Given the description of an element on the screen output the (x, y) to click on. 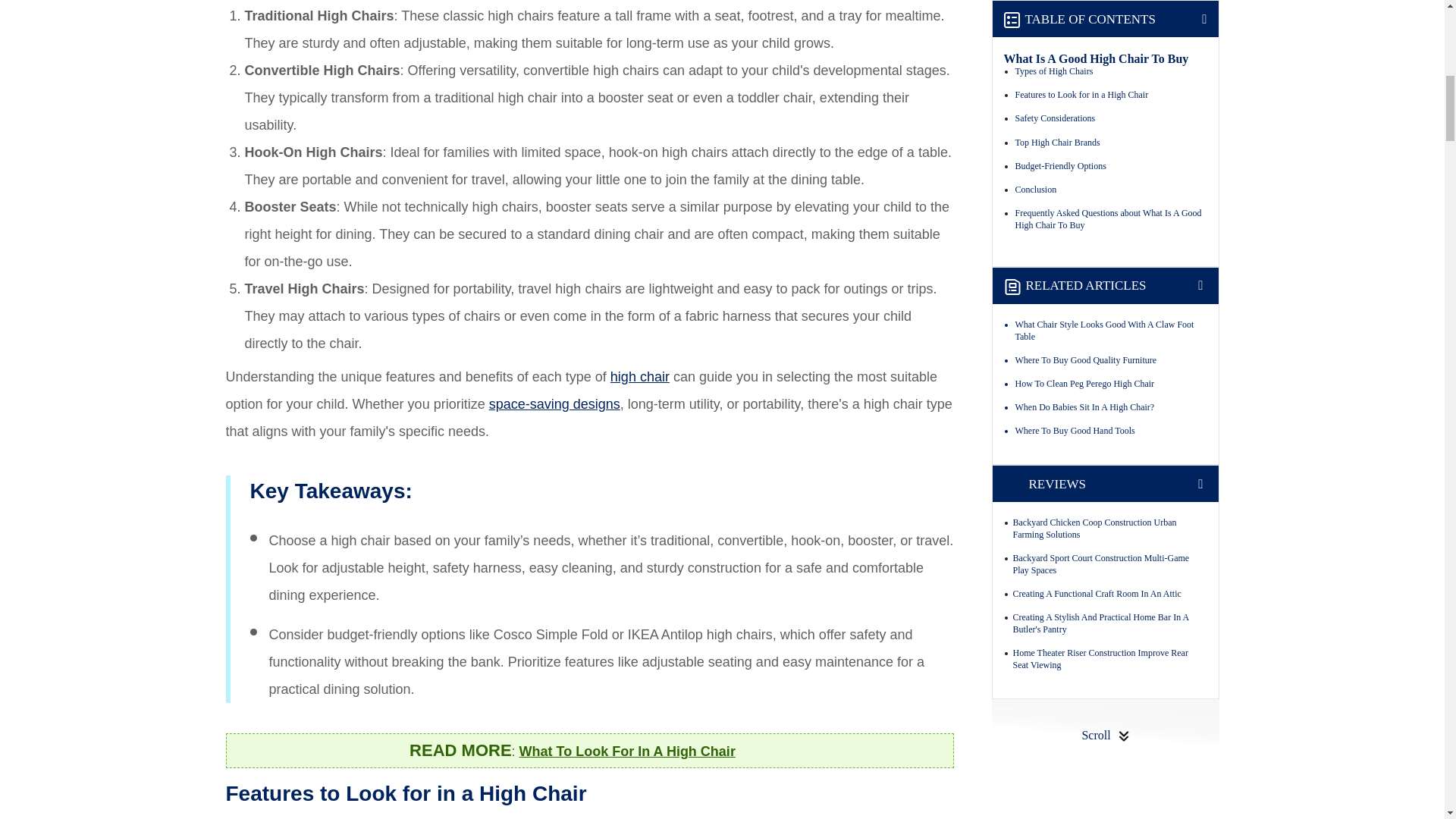
space-saving designs (554, 403)
high chair (639, 376)
